Given the description of an element on the screen output the (x, y) to click on. 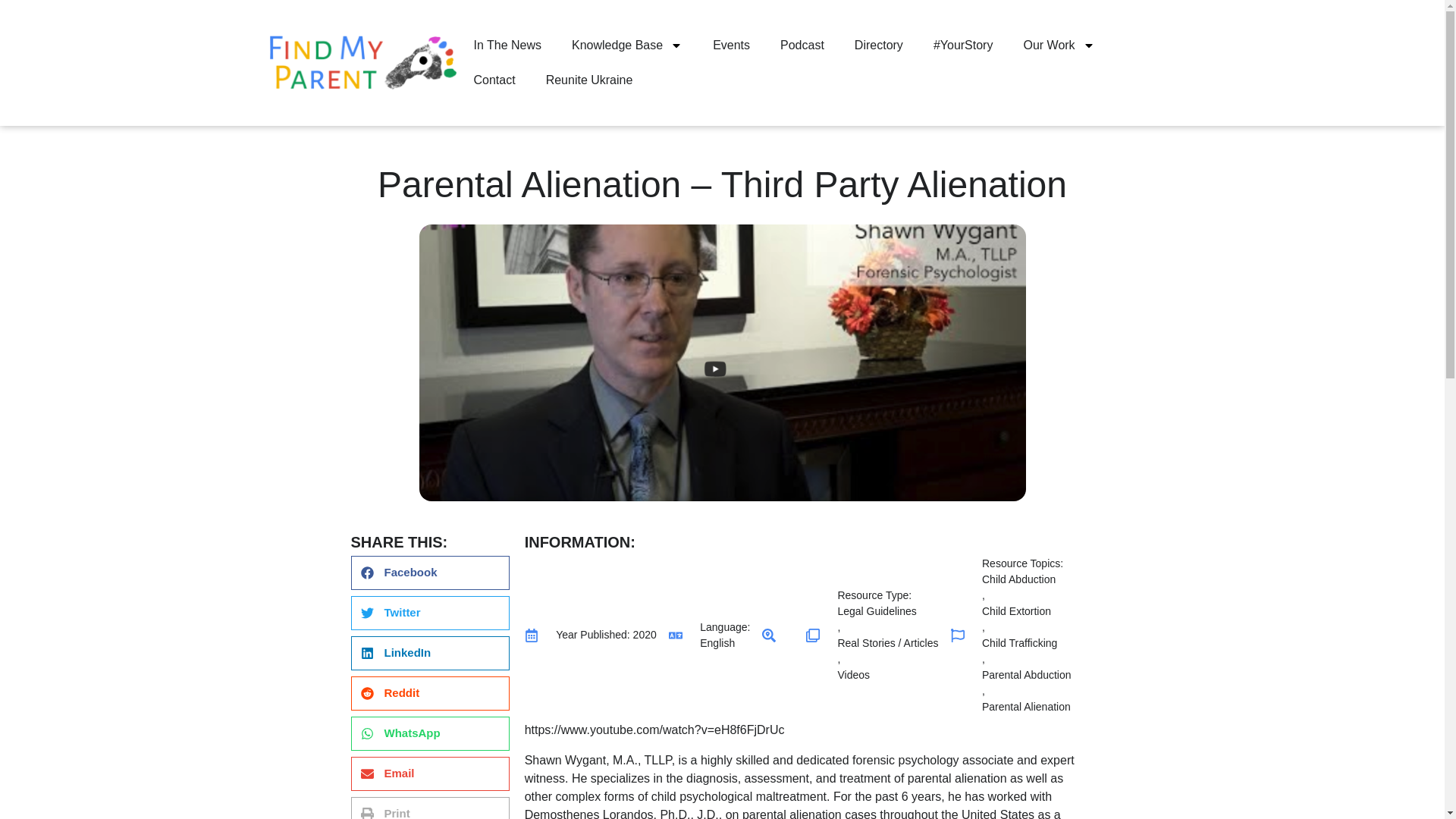
Child Extortion (1026, 611)
Podcast (802, 45)
Videos (887, 675)
In The News (507, 45)
Child Trafficking (1026, 643)
Events (731, 45)
English (724, 643)
Child Abduction (1026, 579)
Knowledge Base (626, 45)
Contact (493, 80)
